Given the description of an element on the screen output the (x, y) to click on. 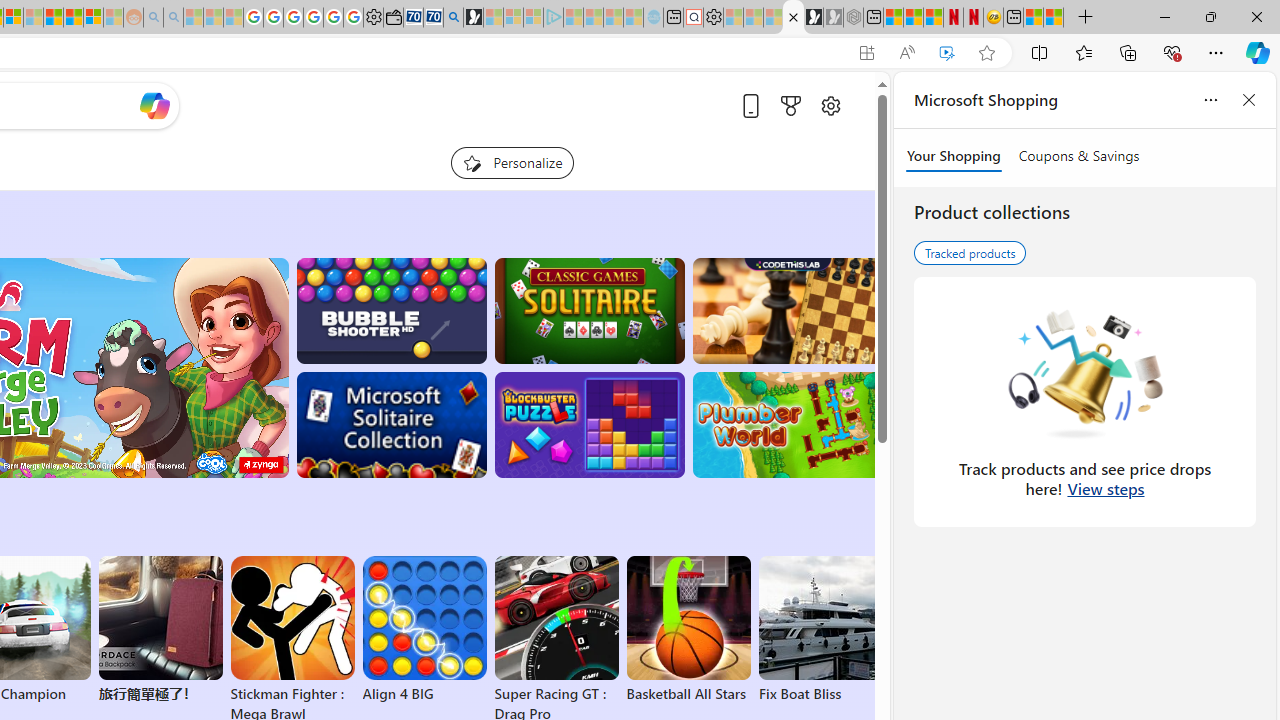
Master Chess (787, 310)
Fix Boat Bliss (820, 694)
BlockBuster: Adventures Puzzle (589, 425)
